Given the description of an element on the screen output the (x, y) to click on. 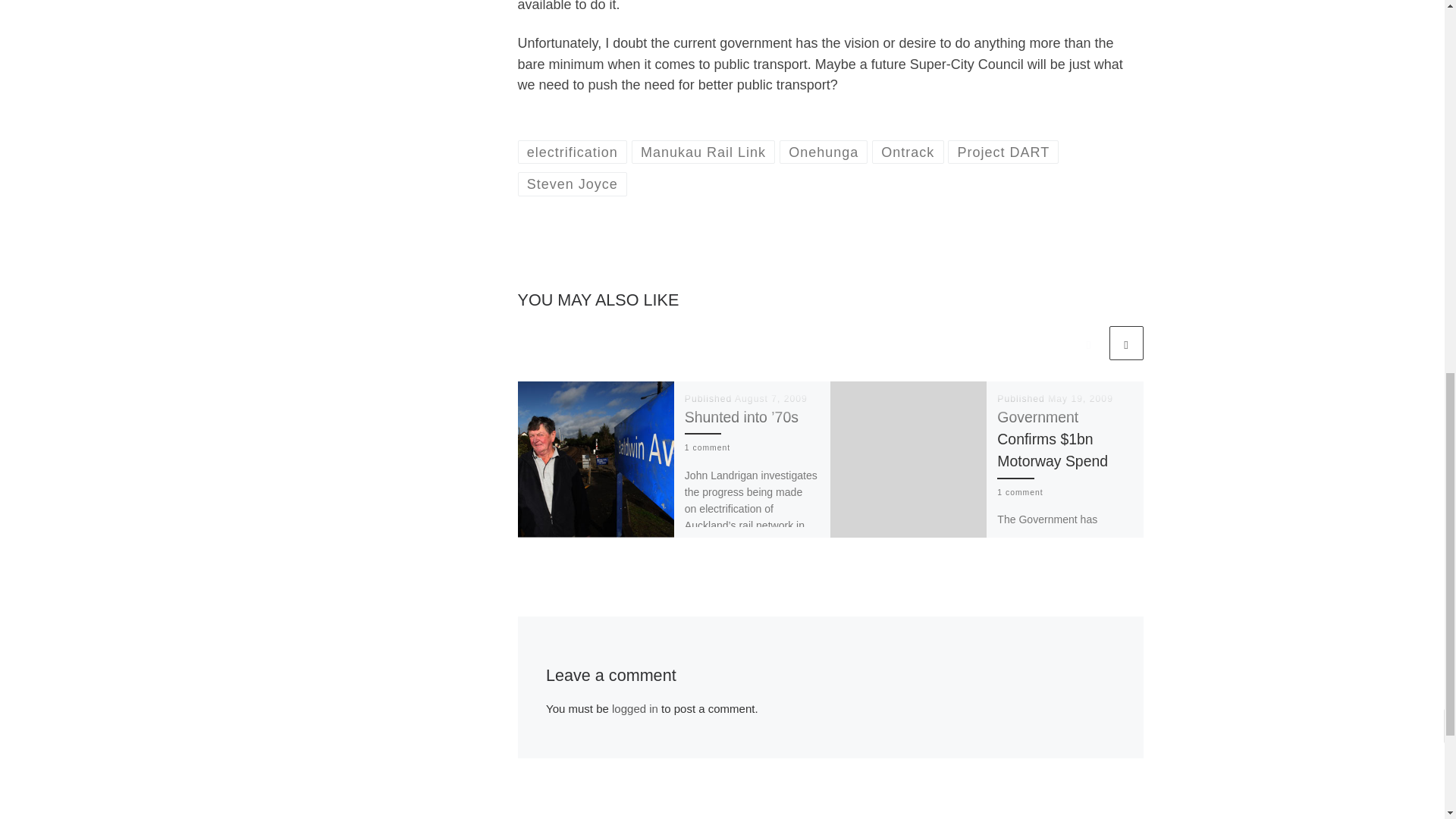
Previous related articles (1088, 342)
View all posts in Ontrack (907, 151)
Next related articles (1125, 342)
View all posts in Manukau Rail Link (703, 151)
View all posts in Steven Joyce (571, 183)
View all posts in Project DART (1002, 151)
View all posts in electrification (571, 151)
View all posts in Onehunga (822, 151)
